Given the description of an element on the screen output the (x, y) to click on. 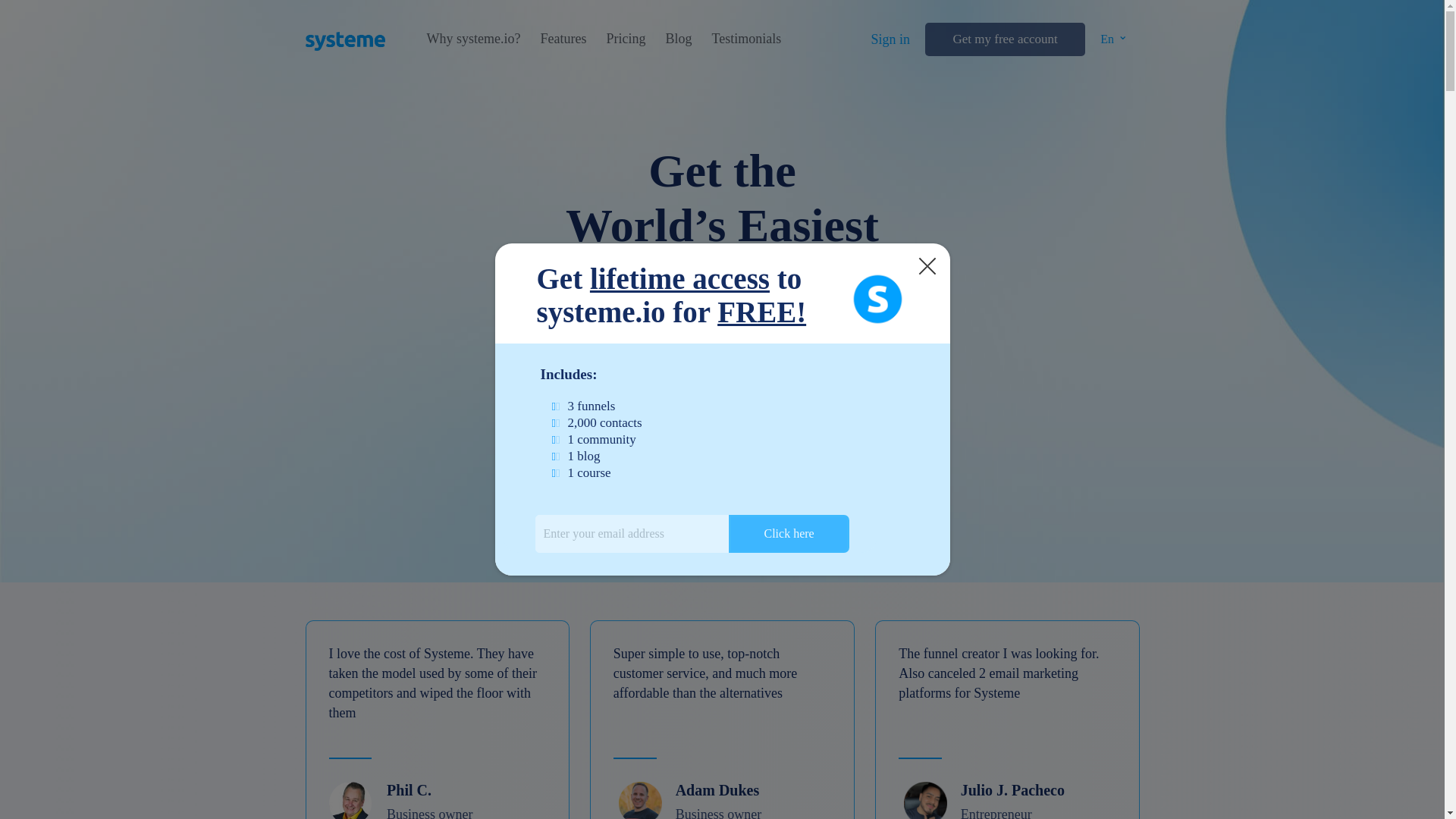
Pricing (625, 38)
Features (563, 38)
Blog (678, 38)
Testimonials (745, 38)
Sign in (890, 39)
Why systeme.io? (472, 38)
Get my free account (1004, 39)
